Given the description of an element on the screen output the (x, y) to click on. 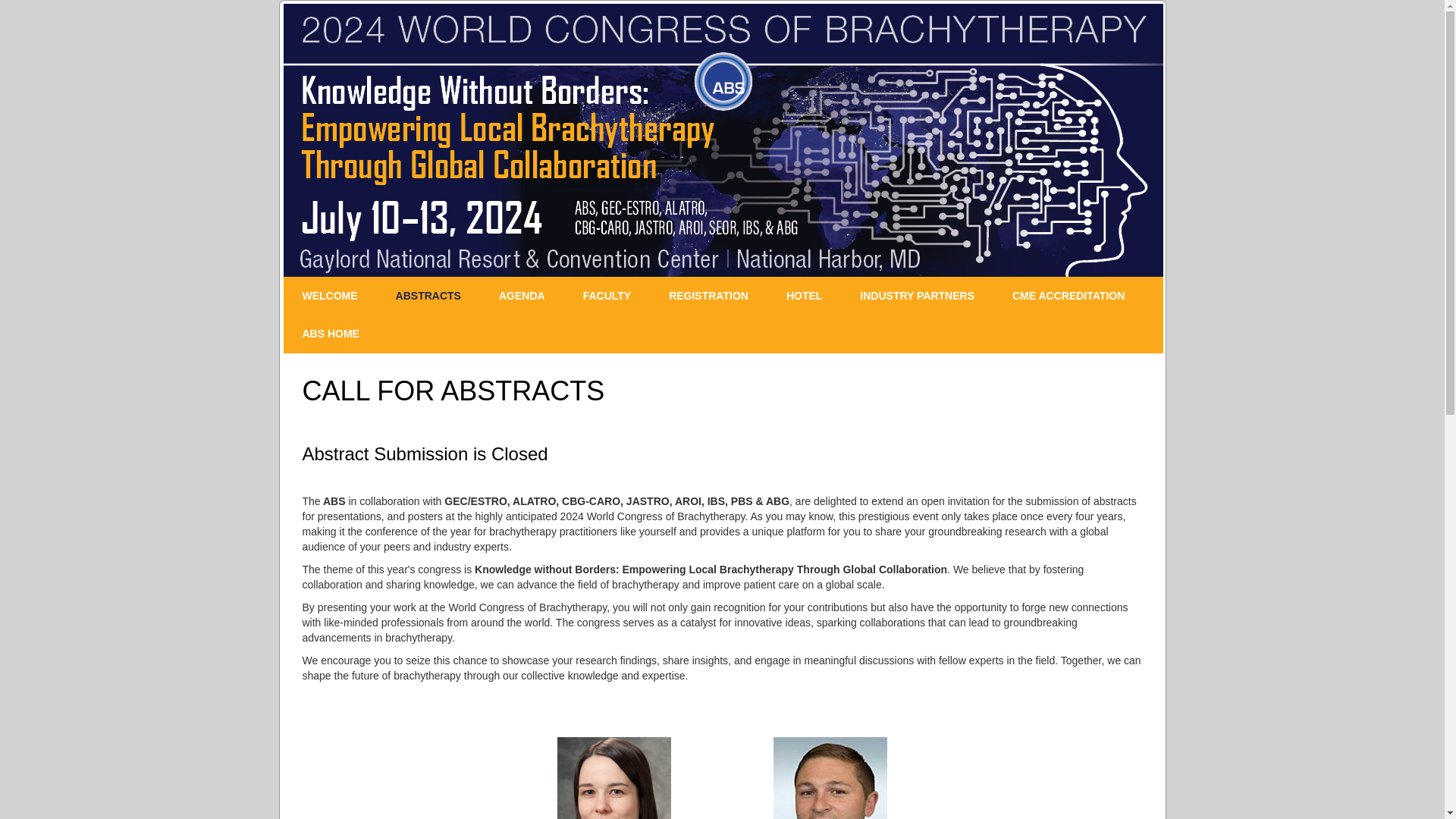
HOTEL (804, 295)
CME ACCREDITATION (1067, 295)
ABS HOME (330, 333)
REGISTRATION (708, 295)
WELCOME (330, 295)
FACULTY (607, 295)
AGENDA (522, 295)
INDUSTRY PARTNERS (916, 295)
ABSTRACTS (428, 295)
